Given the description of an element on the screen output the (x, y) to click on. 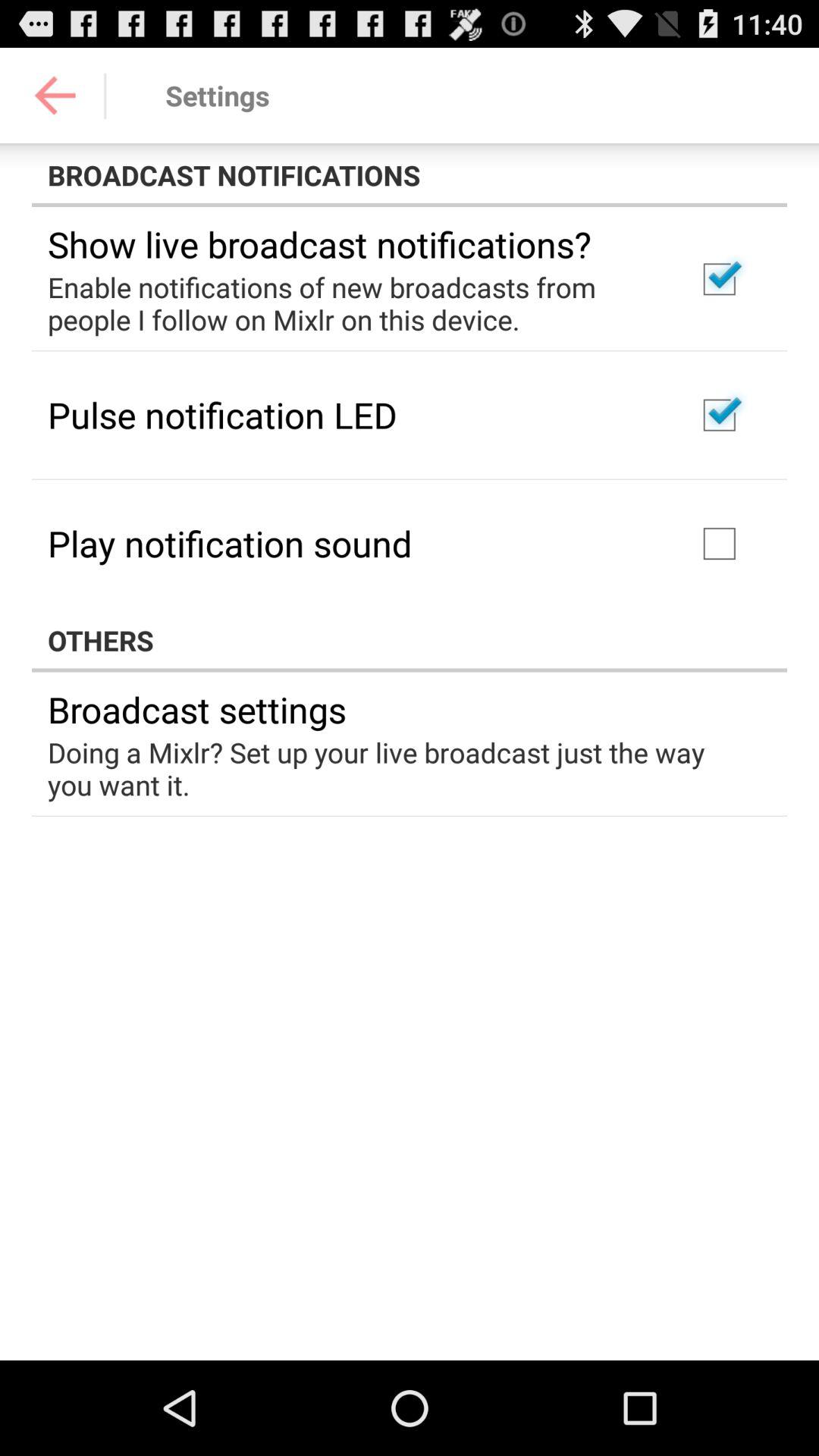
open icon below others icon (196, 709)
